Given the description of an element on the screen output the (x, y) to click on. 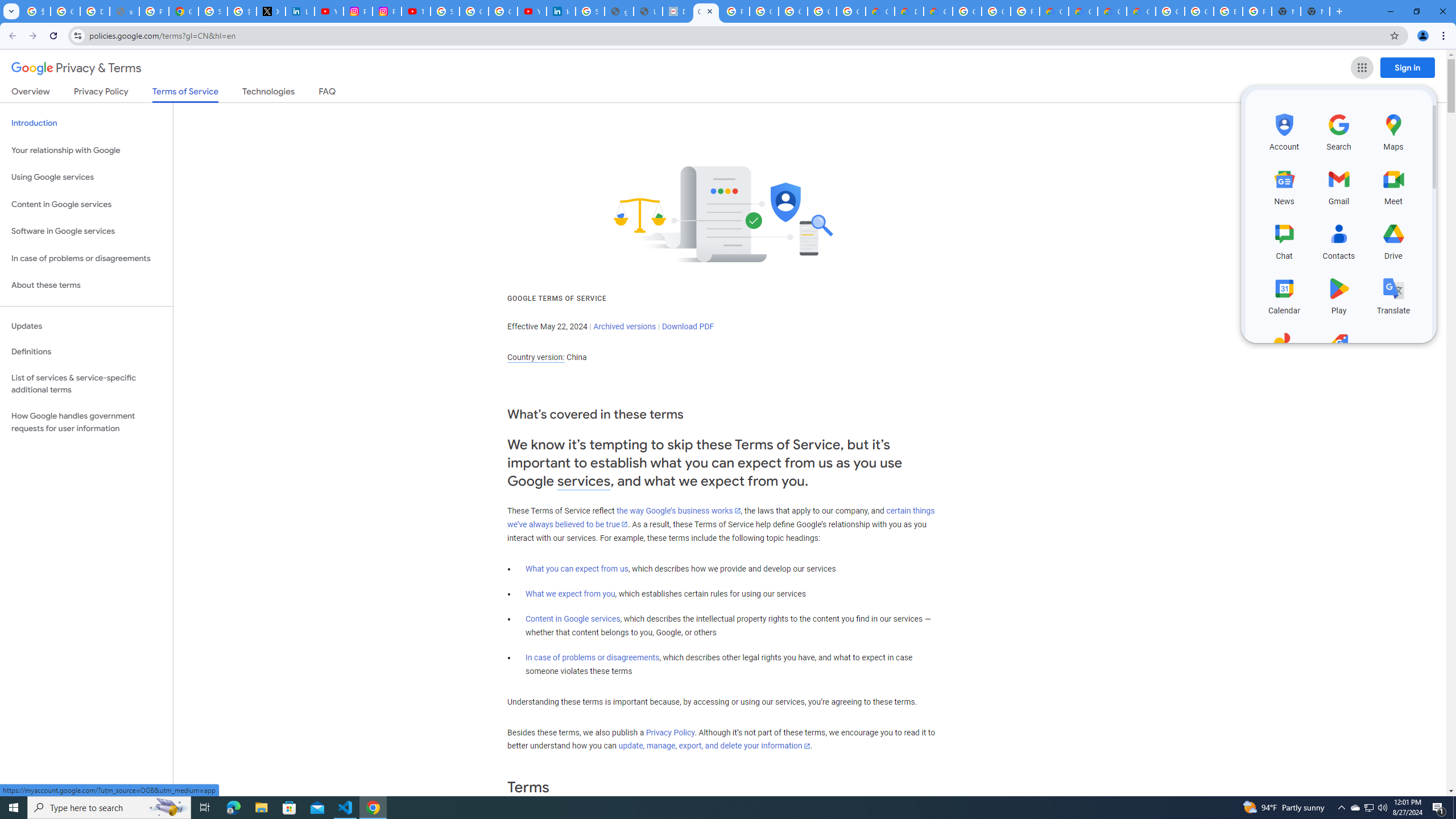
Sign in (1407, 67)
support.google.com - Network error (124, 11)
Google Cloud Service Health (1140, 11)
update, manage, export, and delete your information (714, 746)
Minimize (1390, 11)
System (6, 6)
Privacy & Terms (76, 68)
